Given the description of an element on the screen output the (x, y) to click on. 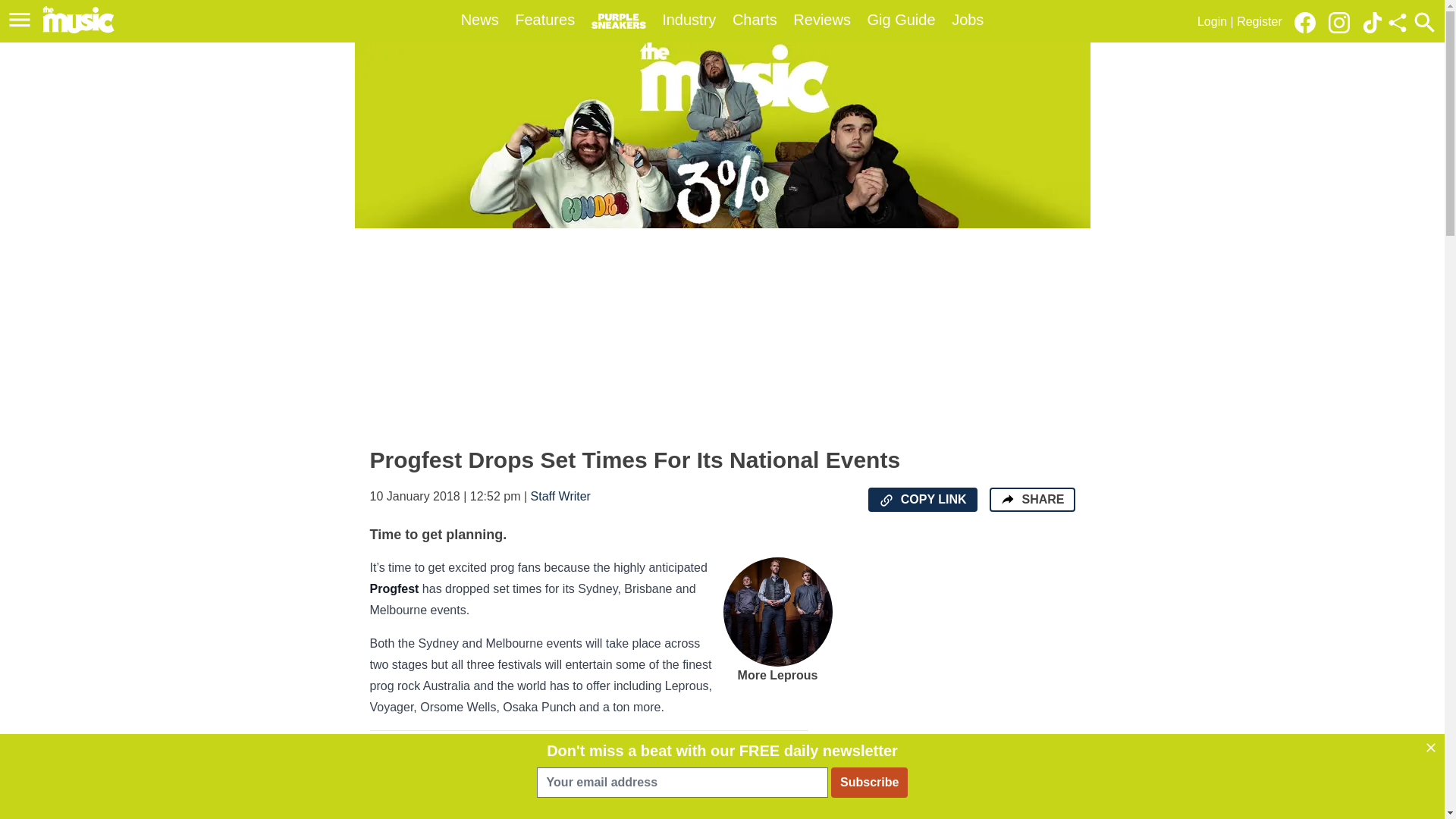
Link to our Instagram (1342, 21)
News (480, 19)
Share the page (1007, 498)
Link to our TikTok (1372, 22)
Reviews (821, 19)
Share the page SHARE (1032, 499)
Open the site search menu (1424, 22)
Register (1259, 21)
Industry (689, 19)
Link to our TikTok (1372, 21)
